Given the description of an element on the screen output the (x, y) to click on. 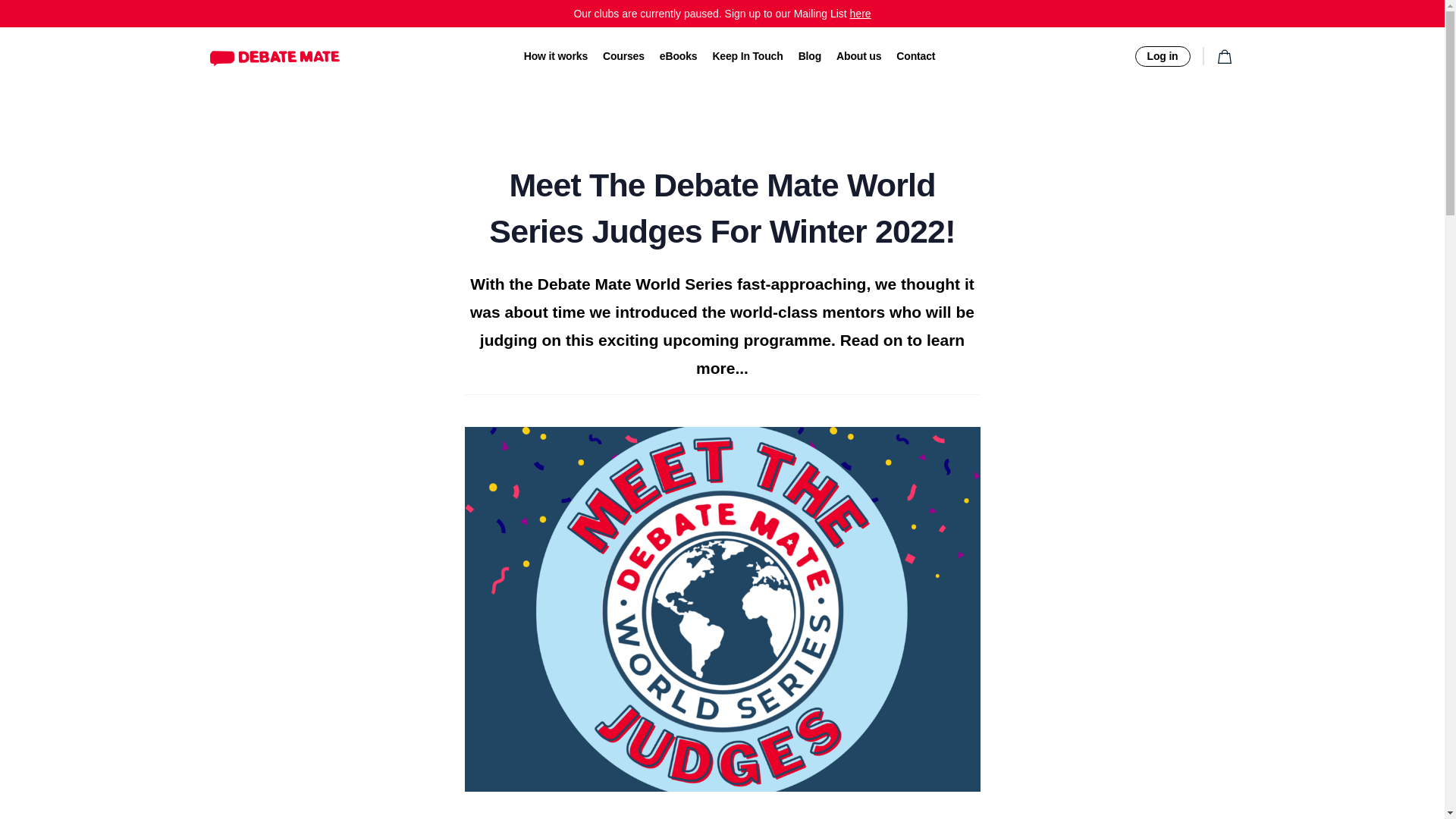
About us (857, 55)
eBooks (678, 55)
Log in (1161, 55)
Contact (915, 55)
How it works (556, 55)
Keep In Touch (747, 55)
Courses (623, 55)
Blog (809, 55)
